Given the description of an element on the screen output the (x, y) to click on. 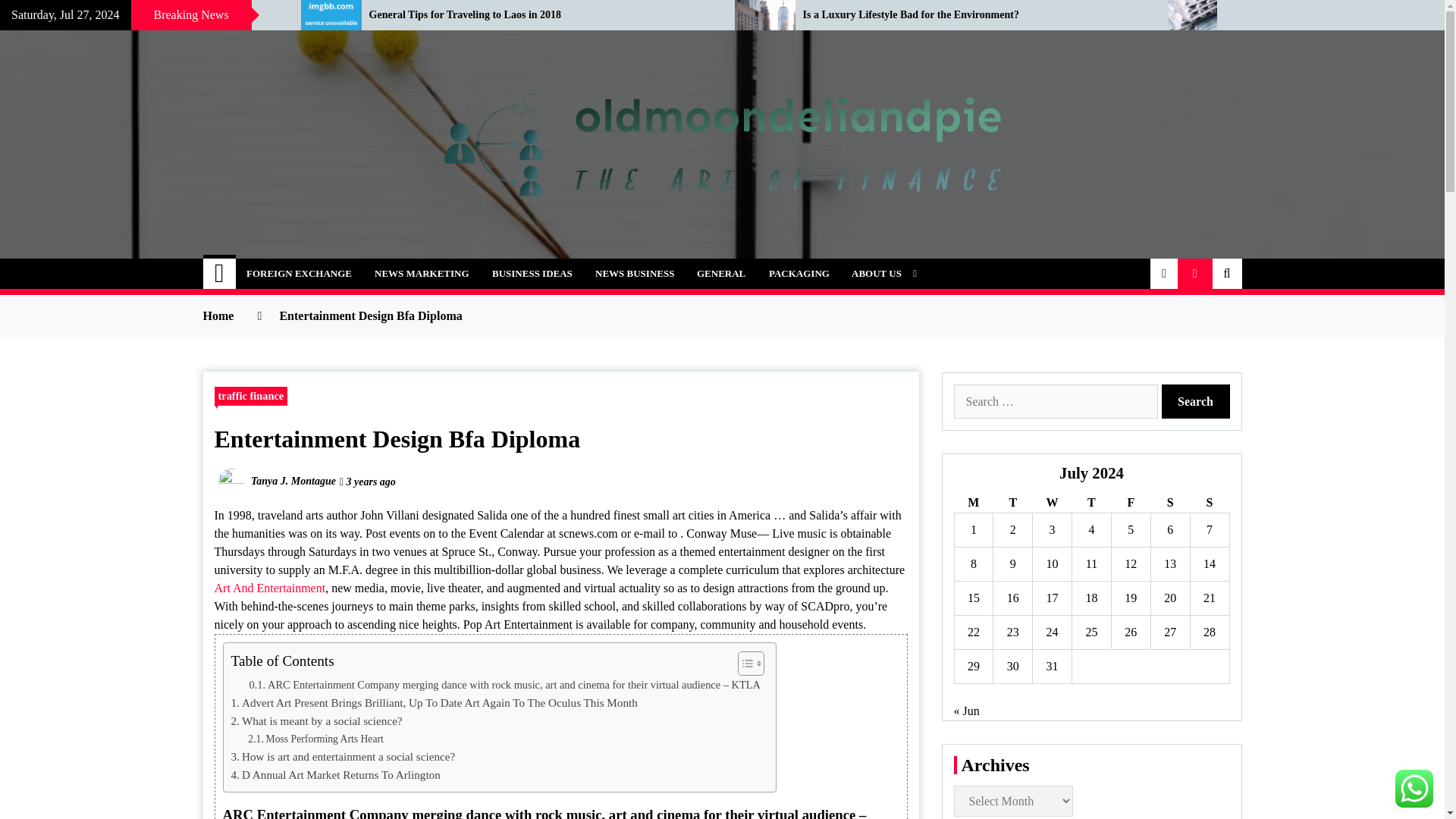
Thursday (1091, 503)
Home (219, 273)
Search (1195, 401)
Monday (972, 503)
Friday (1130, 503)
Is a Luxury Lifestyle Bad for the Environment? (974, 15)
Moss Performing Arts Heart (315, 739)
Sunday (1208, 503)
Search (1195, 401)
Wednesday (1051, 503)
D Annual Art Market Returns To Arlington (334, 774)
General Tips for Traveling to Laos in 2018 (540, 15)
How is art and entertainment a social science? (342, 756)
Saturday (1169, 503)
